Given the description of an element on the screen output the (x, y) to click on. 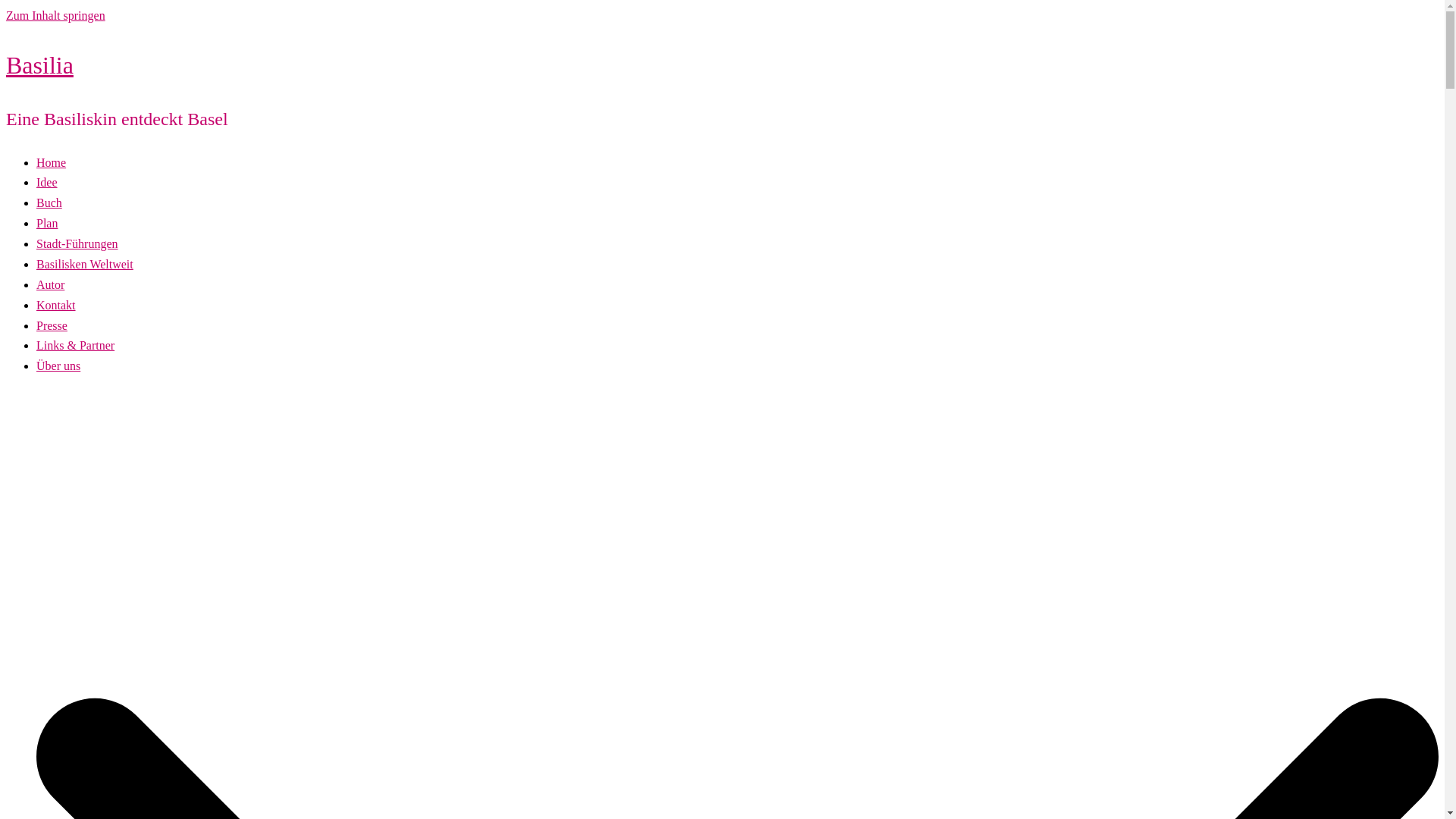
Idee Element type: text (46, 181)
Basilia Element type: text (39, 64)
Basilisken Weltweit Element type: text (84, 263)
Presse Element type: text (51, 325)
Plan Element type: text (46, 222)
Links & Partner Element type: text (75, 344)
Autor Element type: text (50, 284)
Home Element type: text (50, 162)
Kontakt Element type: text (55, 304)
Buch Element type: text (49, 202)
Zum Inhalt springen Element type: text (55, 15)
